Given the description of an element on the screen output the (x, y) to click on. 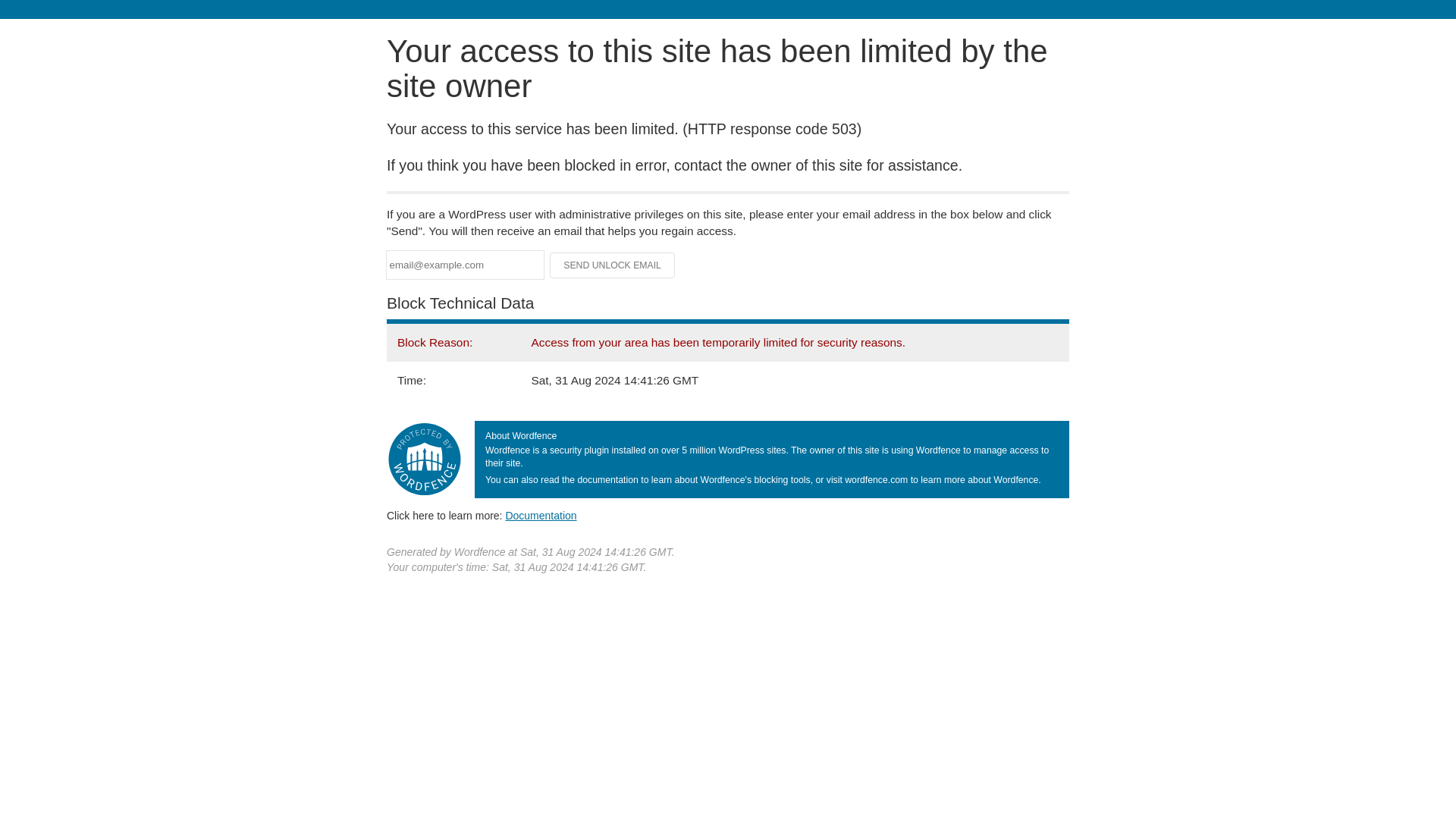
Send Unlock Email (612, 265)
Send Unlock Email (612, 265)
Documentation (540, 515)
